Given the description of an element on the screen output the (x, y) to click on. 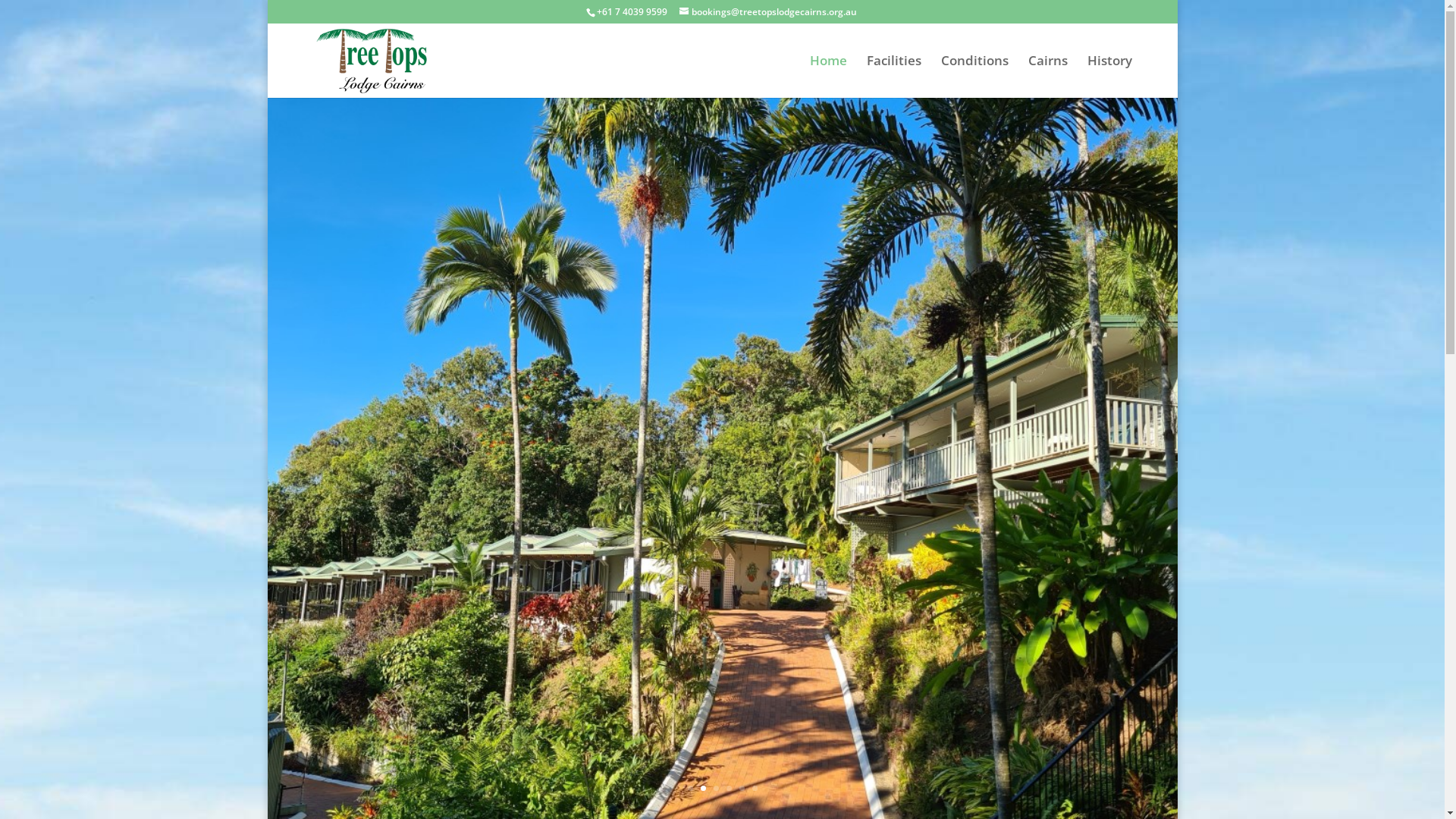
+61 7 4039 9599 Element type: text (631, 11)
Cairns Element type: text (1047, 76)
bookings@treetopslodgecairns.org.au Element type: text (767, 11)
Home Element type: text (828, 76)
2 Element type: text (703, 787)
4 Element type: text (728, 787)
Facilities Element type: text (893, 76)
History Element type: text (1109, 76)
3 Element type: text (715, 787)
1 Element type: text (689, 787)
6 Element type: text (754, 787)
Conditions Element type: text (973, 76)
5 Element type: text (740, 787)
